Given the description of an element on the screen output the (x, y) to click on. 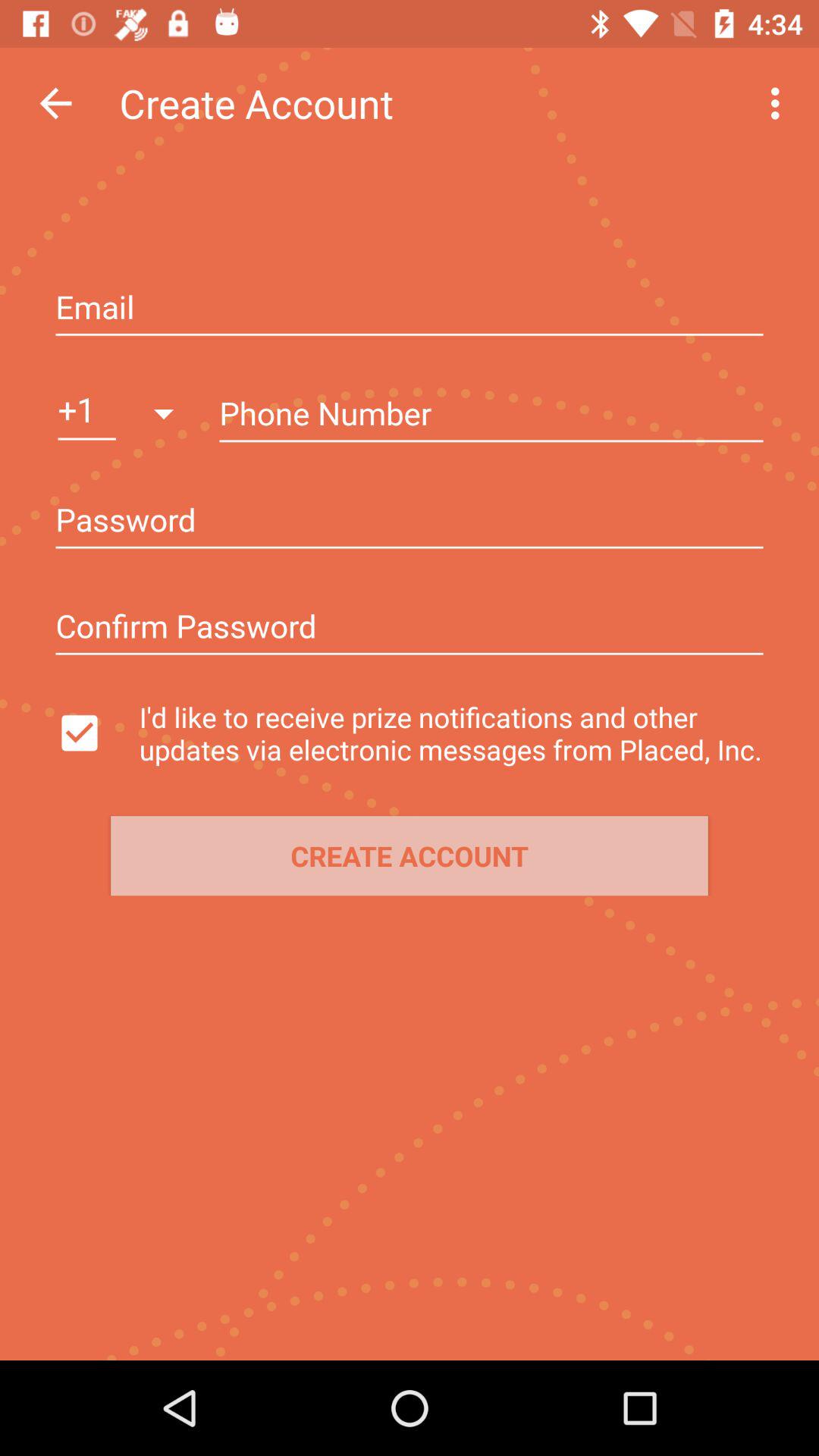
insert password (409, 627)
